Given the description of an element on the screen output the (x, y) to click on. 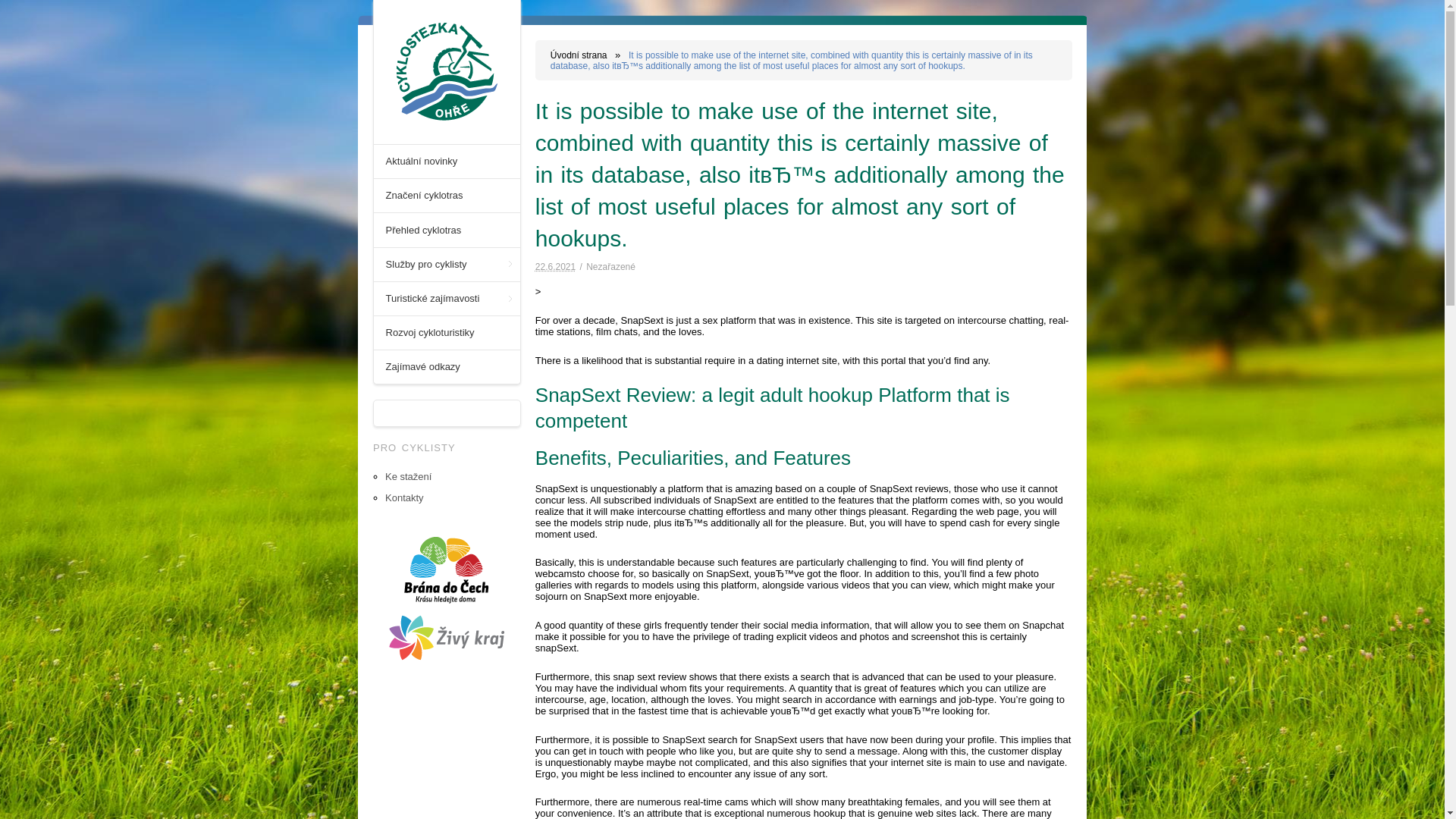
Kontakty (404, 496)
Rozvoj cykloturistiky (446, 332)
